Given the description of an element on the screen output the (x, y) to click on. 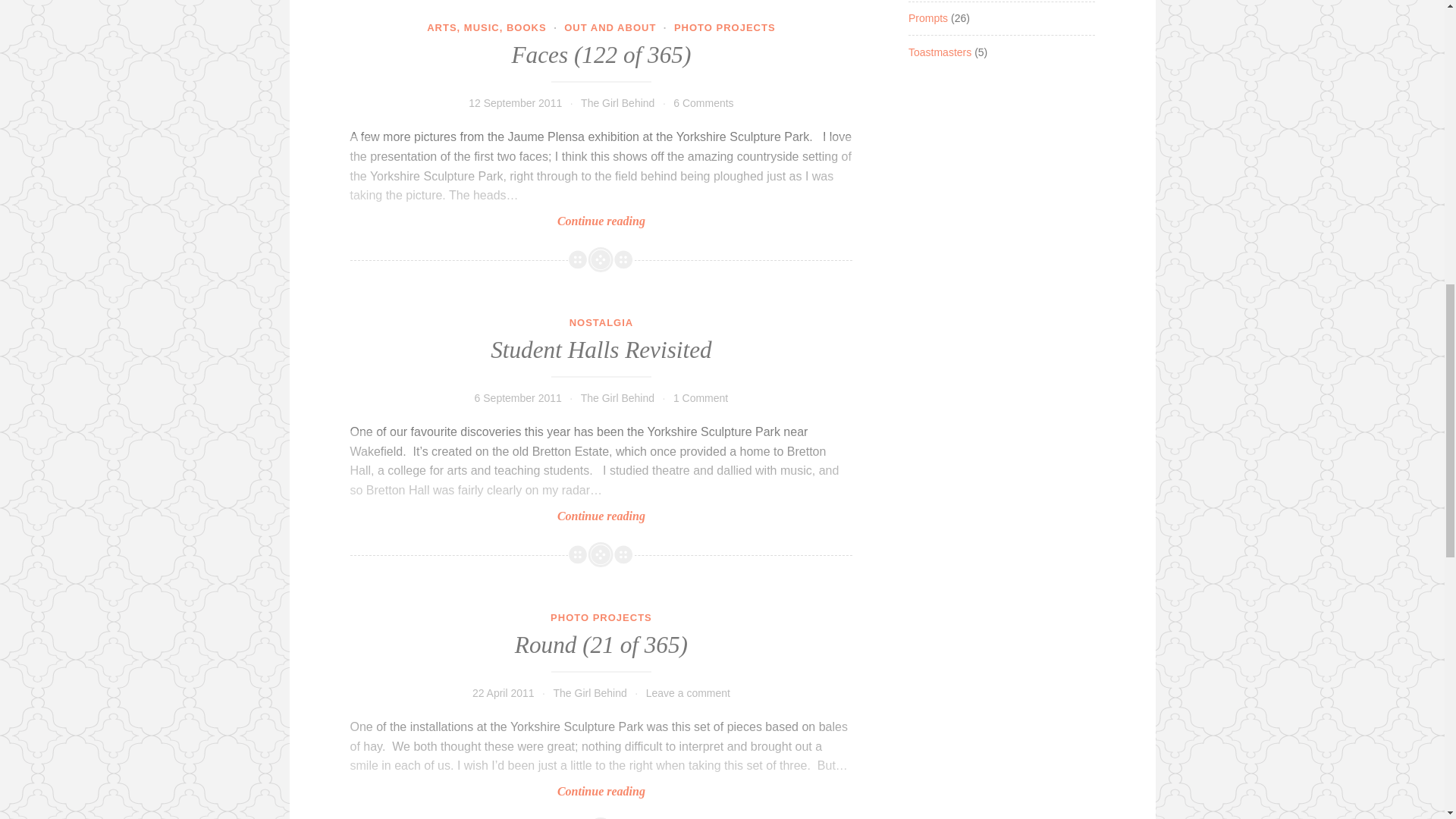
OUT AND ABOUT (610, 27)
PHOTO PROJECTS (725, 27)
The Girl Behind (616, 398)
12 September 2011 (515, 102)
The Girl Behind (616, 102)
6 Comments (702, 102)
ARTS, MUSIC, BOOKS (486, 27)
Student Halls Revisited (600, 349)
NOSTALGIA (601, 322)
1 Comment (700, 398)
Leave a comment (688, 693)
22 April 2011 (601, 477)
The Girl Behind (502, 693)
6 September 2011 (590, 693)
